Given the description of an element on the screen output the (x, y) to click on. 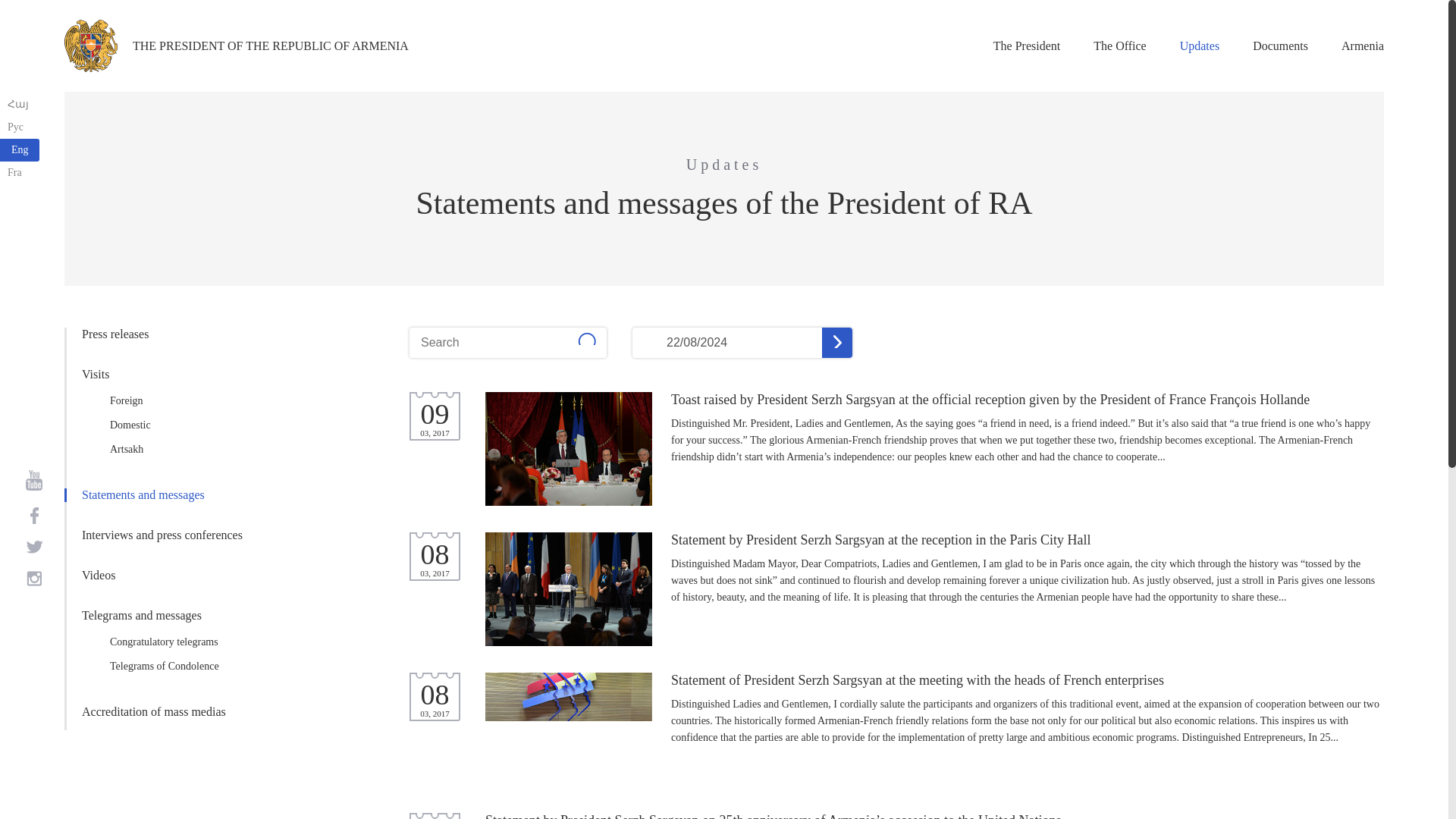
Fra (19, 172)
Statements and messages (171, 495)
Visits (171, 374)
Press releases (171, 334)
The Office (1119, 45)
Videos (171, 575)
Documents (1279, 45)
The President (1025, 45)
THE PRESIDENT OF THE REPUBLIC OF ARMENIA (236, 45)
Interviews and press conferences (171, 535)
